Given the description of an element on the screen output the (x, y) to click on. 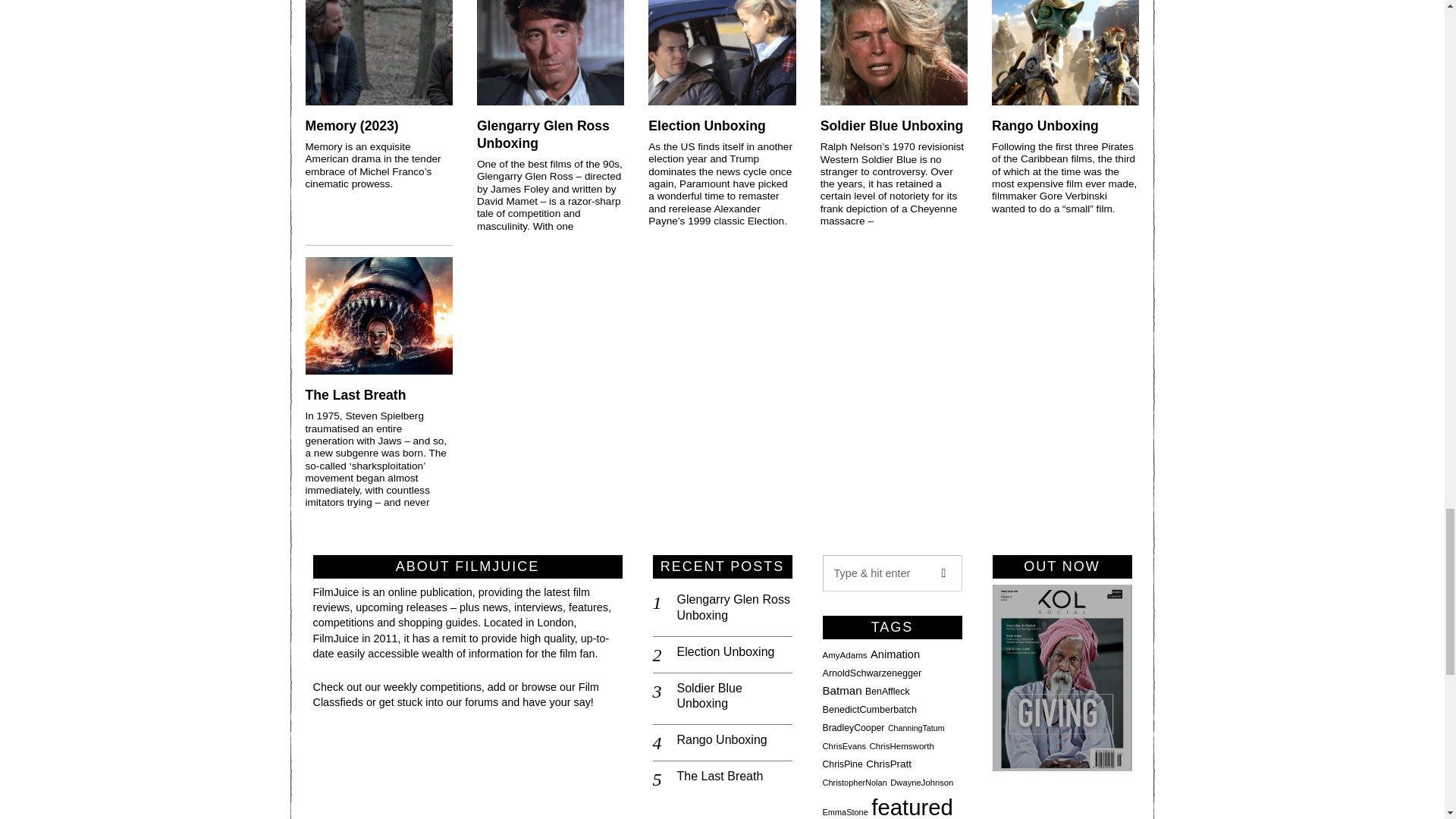
Go (942, 573)
